Given the description of an element on the screen output the (x, y) to click on. 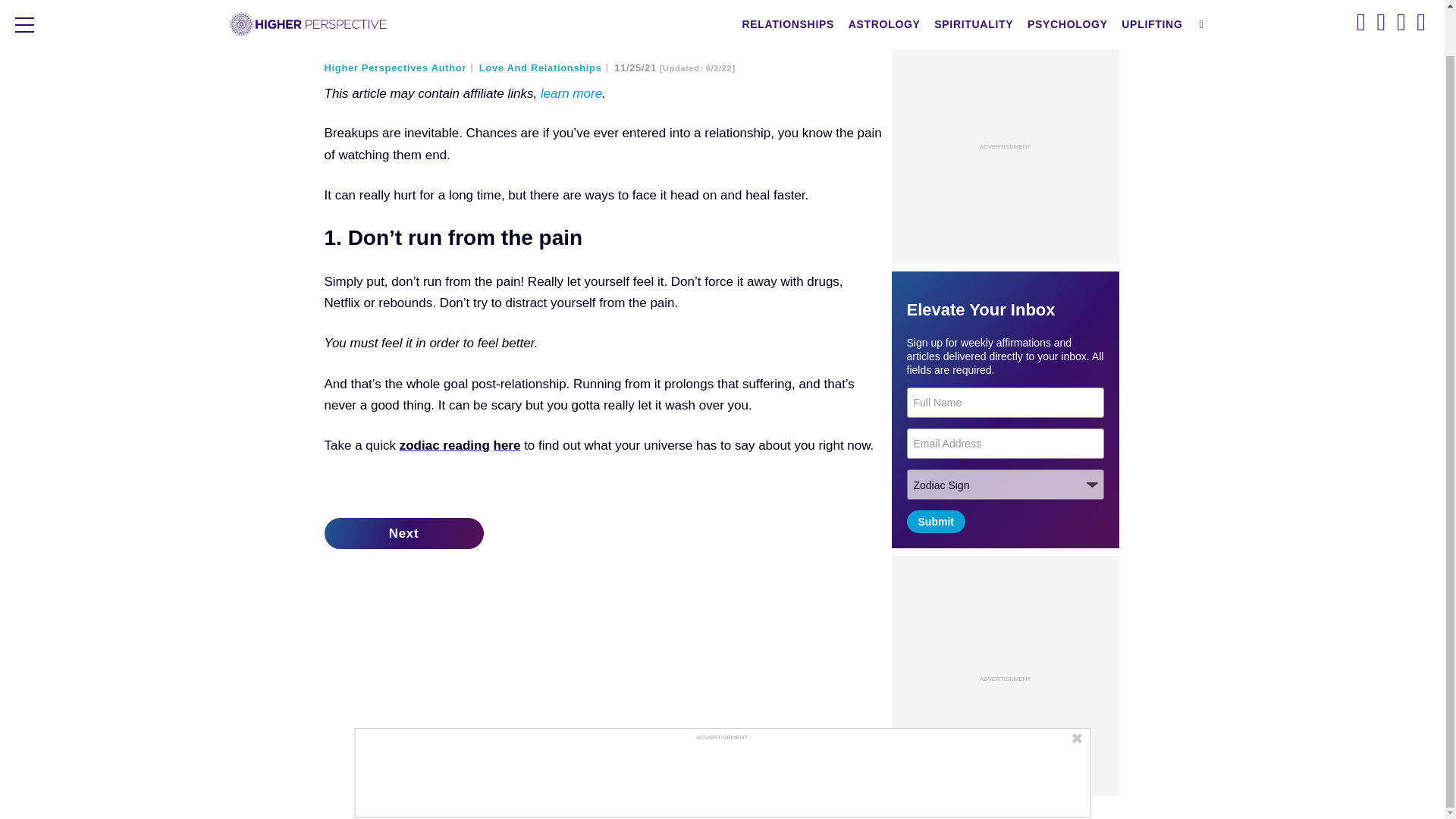
Posts by Higher Perspectives Author (400, 67)
here (506, 445)
zodiac reading (443, 445)
learn more (571, 93)
Higher Perspectives Author (400, 67)
UPLIFTING (1152, 0)
Love And Relationships (545, 67)
